Given the description of an element on the screen output the (x, y) to click on. 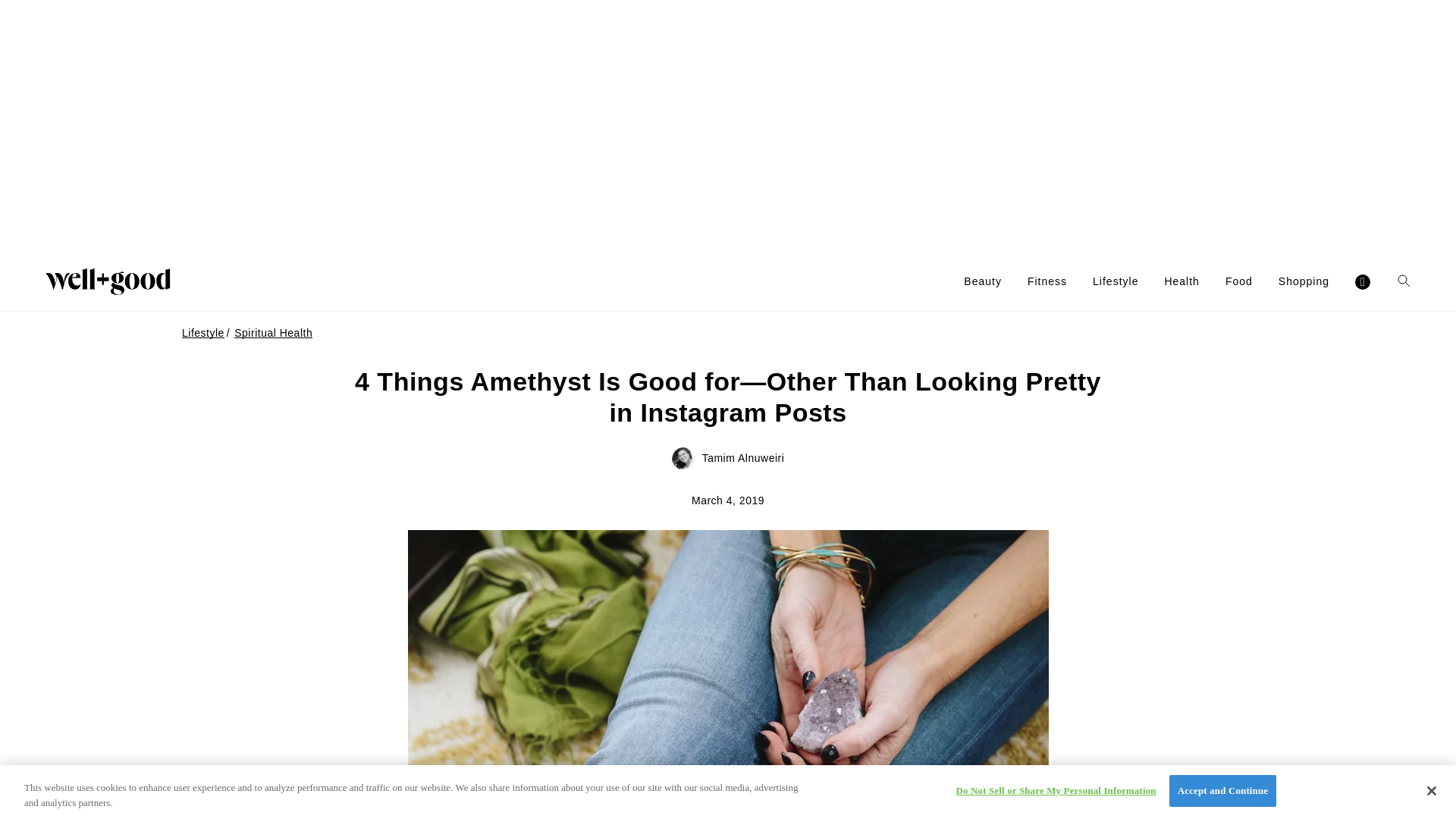
Shopping (1303, 281)
Beauty (982, 281)
3rd party ad content (727, 126)
Lifestyle (1115, 281)
Fitness (1047, 281)
Food (1238, 281)
Health (1180, 281)
